Given the description of an element on the screen output the (x, y) to click on. 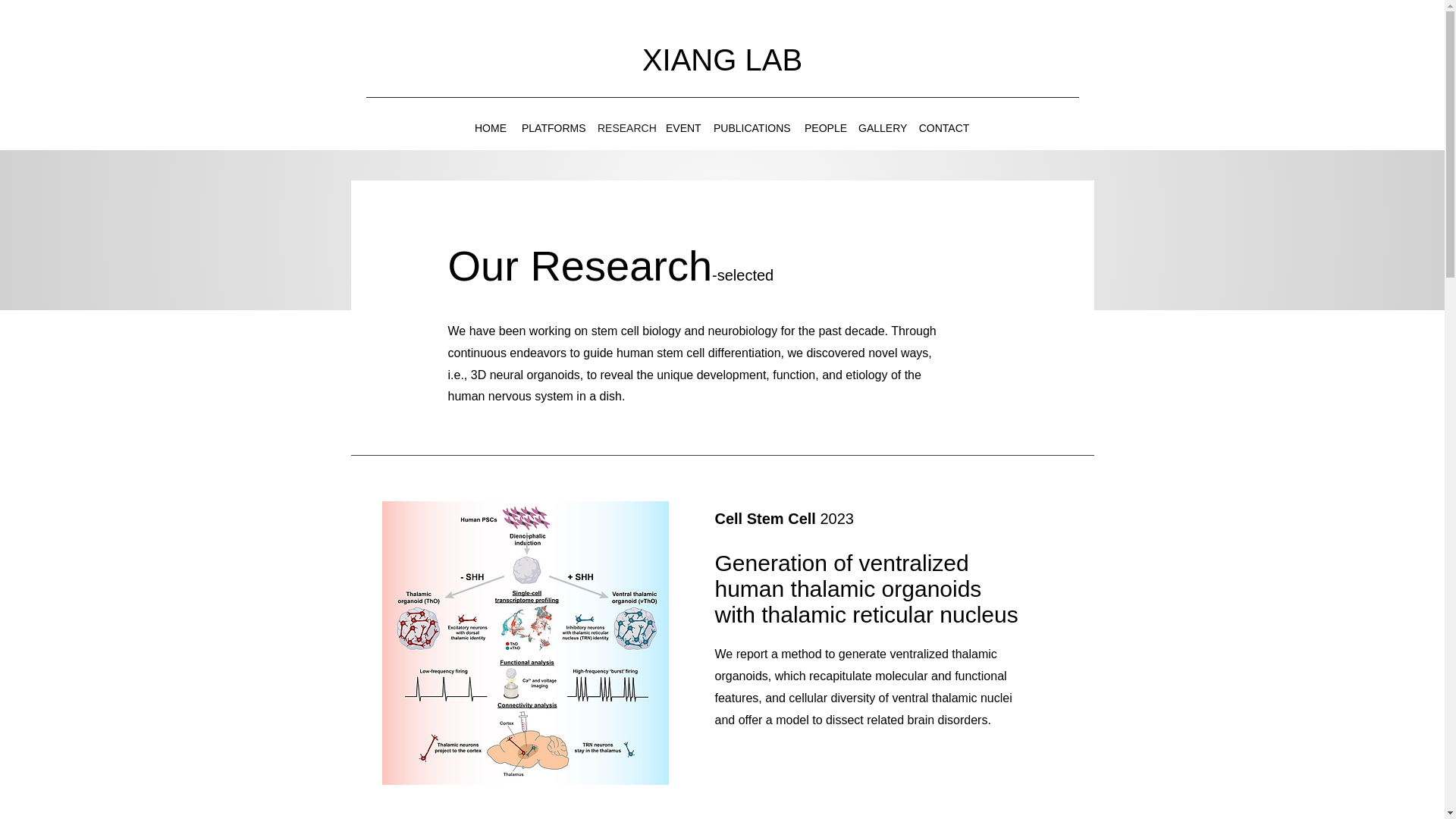
RESEARCH (623, 128)
HOME (490, 128)
XIANG LAB (722, 59)
CONTACT (943, 128)
EVENT (682, 128)
GALLERY (880, 128)
PLATFORMS (551, 128)
PUBLICATIONS (751, 128)
PEOPLE (823, 128)
